Given the description of an element on the screen output the (x, y) to click on. 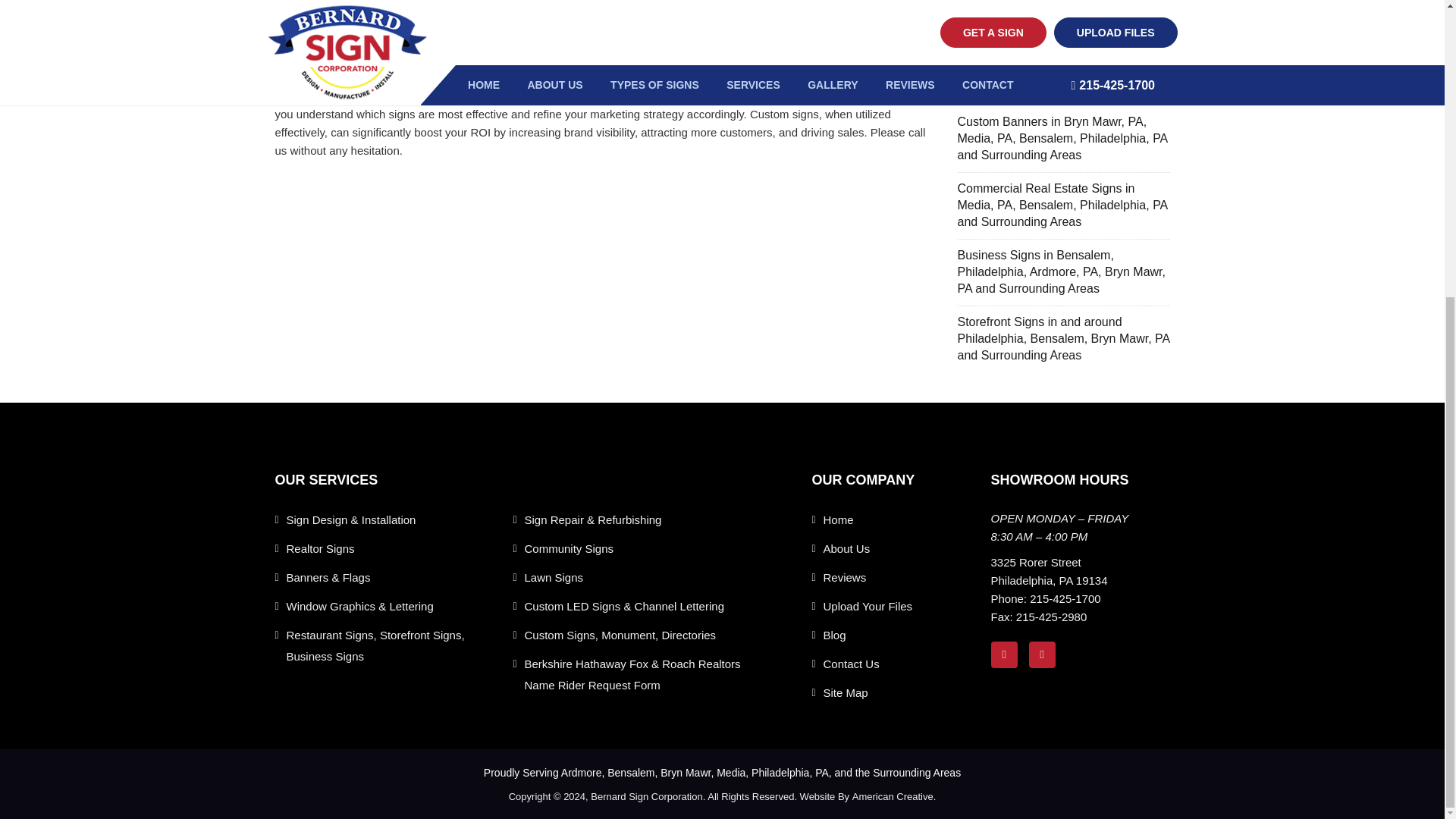
Custom Signs, Monument, Directories (620, 635)
Community Signs (569, 548)
Home (838, 519)
LinkedIn (1046, 654)
Lawn Signs (553, 577)
Facebook (1008, 654)
